Given the description of an element on the screen output the (x, y) to click on. 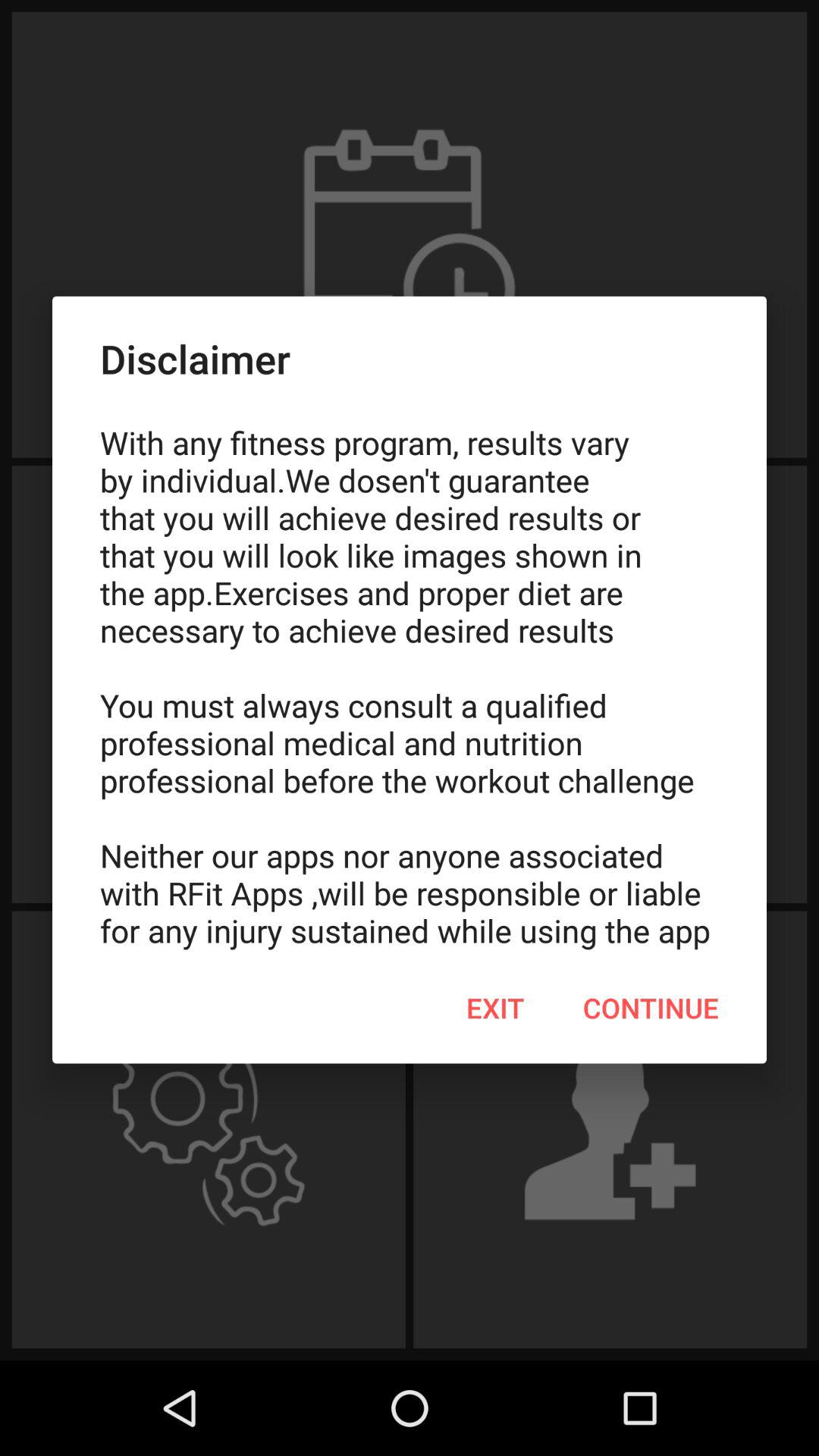
click the exit (495, 1007)
